Given the description of an element on the screen output the (x, y) to click on. 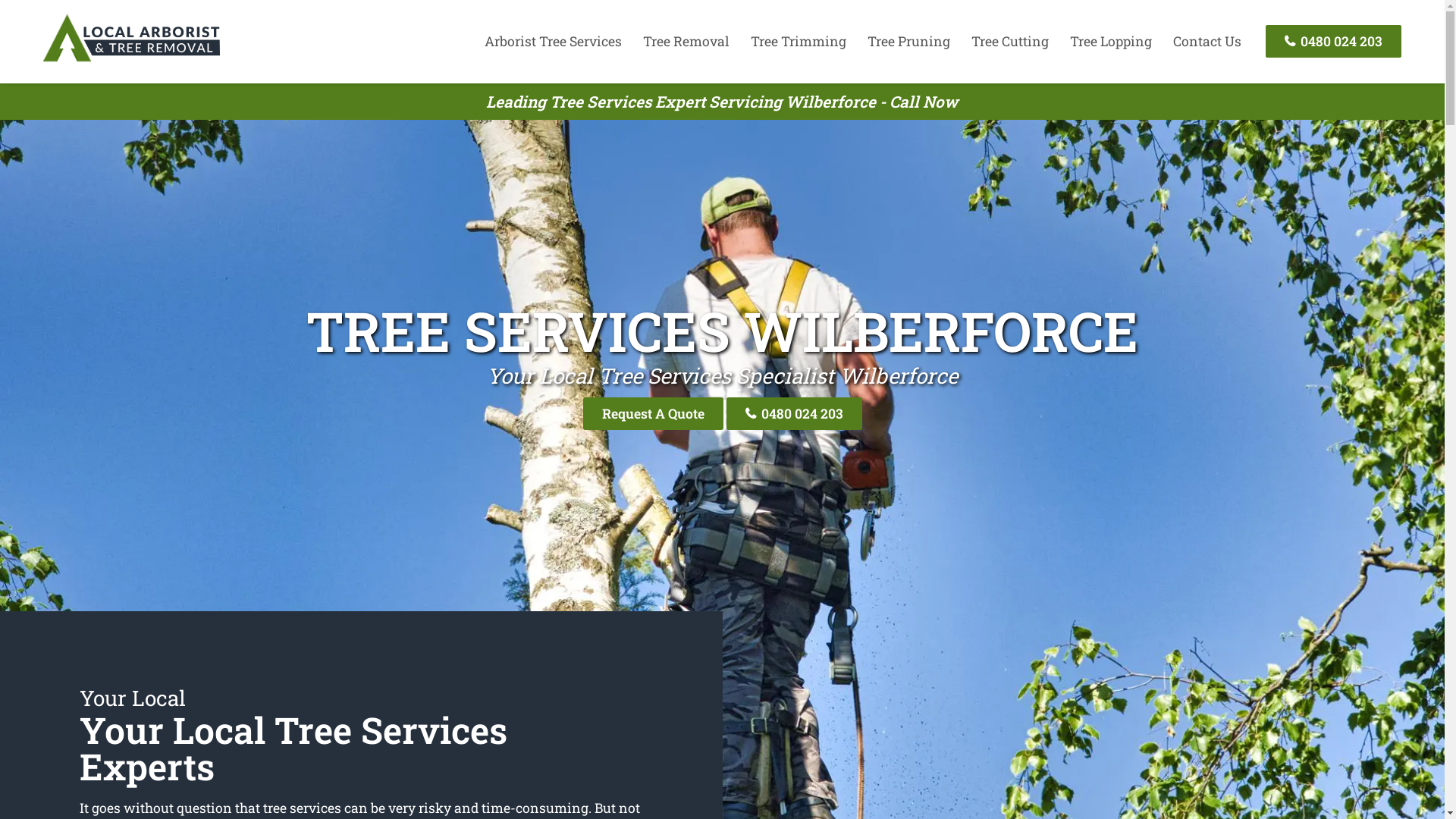
0480 024 203 Element type: text (1333, 41)
Arborists Element type: hover (131, 60)
0480 024 203 Element type: text (794, 413)
Arborist Tree Services Element type: text (552, 41)
Contact Us Element type: text (1207, 41)
Tree Removal Element type: text (685, 41)
Request A Quote Element type: text (652, 413)
Tree Pruning Element type: text (908, 41)
Tree Lopping Element type: text (1110, 41)
Tree Cutting Element type: text (1009, 41)
Tree Trimming Element type: text (798, 41)
